Given the description of an element on the screen output the (x, y) to click on. 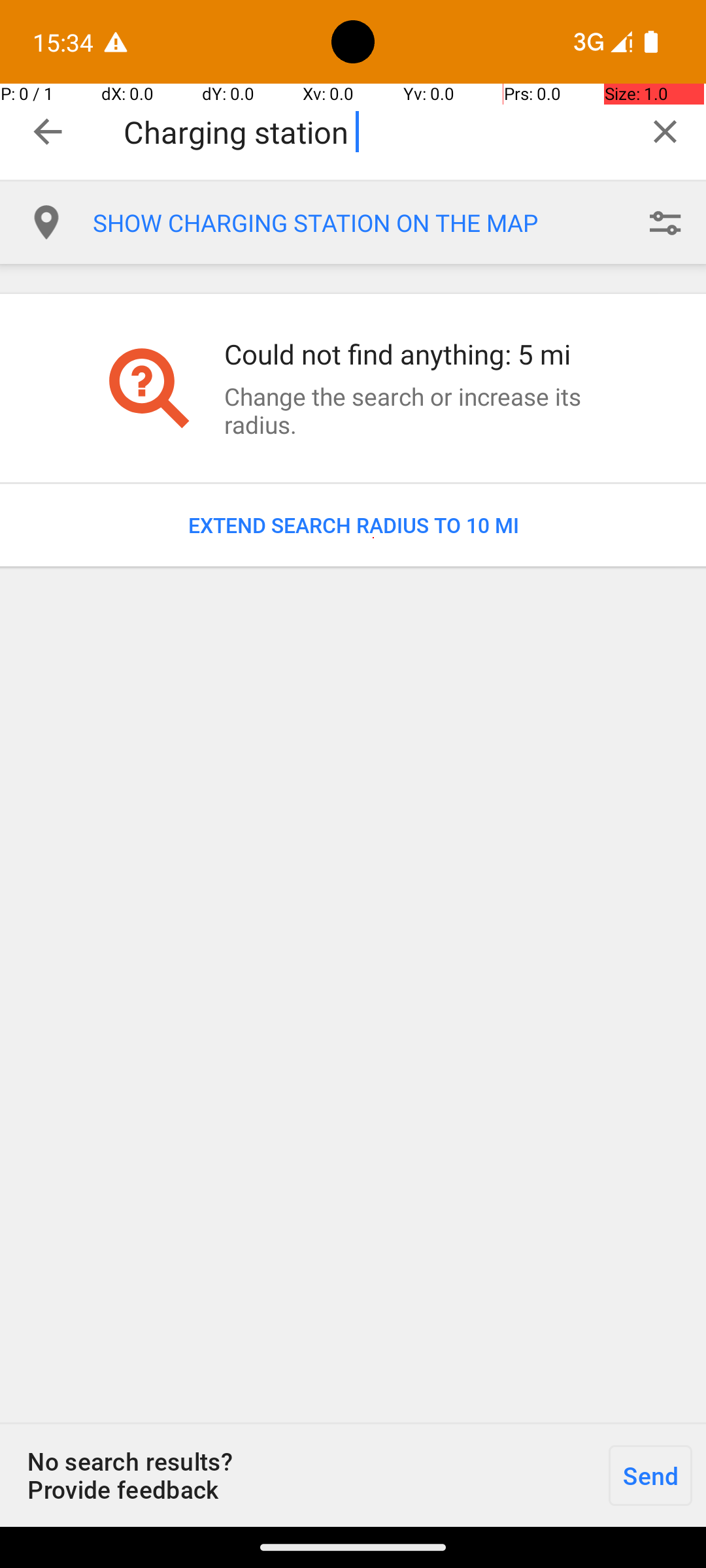
No search results?
Provide feedback Element type: android.widget.TextView (297, 1475)
Charging station  Element type: android.widget.EditText (373, 131)
Clear Element type: android.widget.ImageButton (664, 131)
SHOW CHARGING STATION ON THE MAP Element type: android.widget.TextView (357, 222)
Custom filter Element type: android.widget.ImageButton (664, 222)
Send Element type: android.widget.TextView (650, 1475)
Could not find anything: 5 mi Element type: android.widget.TextView (414, 353)
Change the search or increase its radius. Element type: android.widget.TextView (414, 410)
EXTEND SEARCH RADIUS TO 10 MI Element type: android.widget.TextView (352, 524)
